Given the description of an element on the screen output the (x, y) to click on. 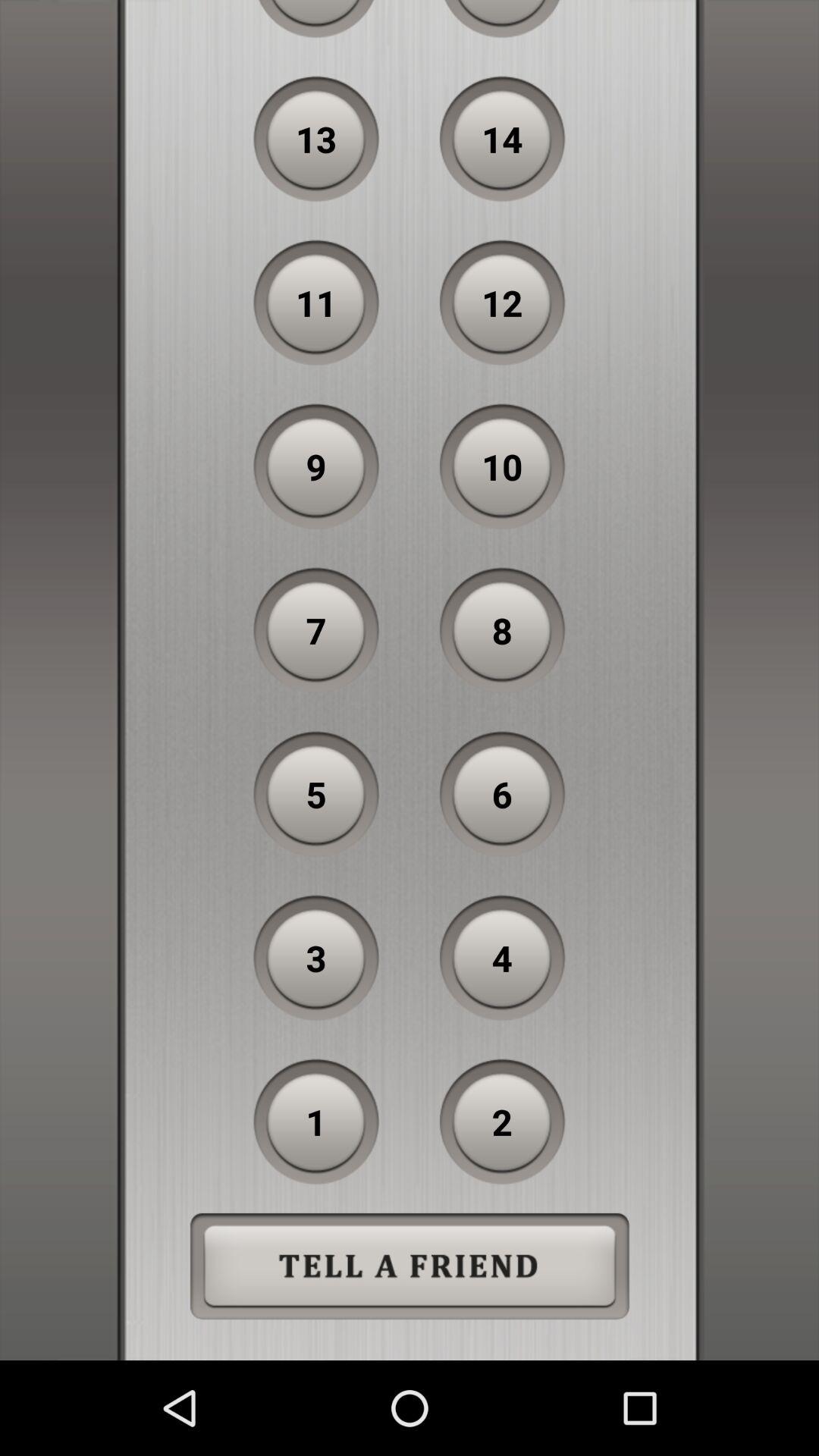
turn on the button below the 1 (409, 1266)
